Given the description of an element on the screen output the (x, y) to click on. 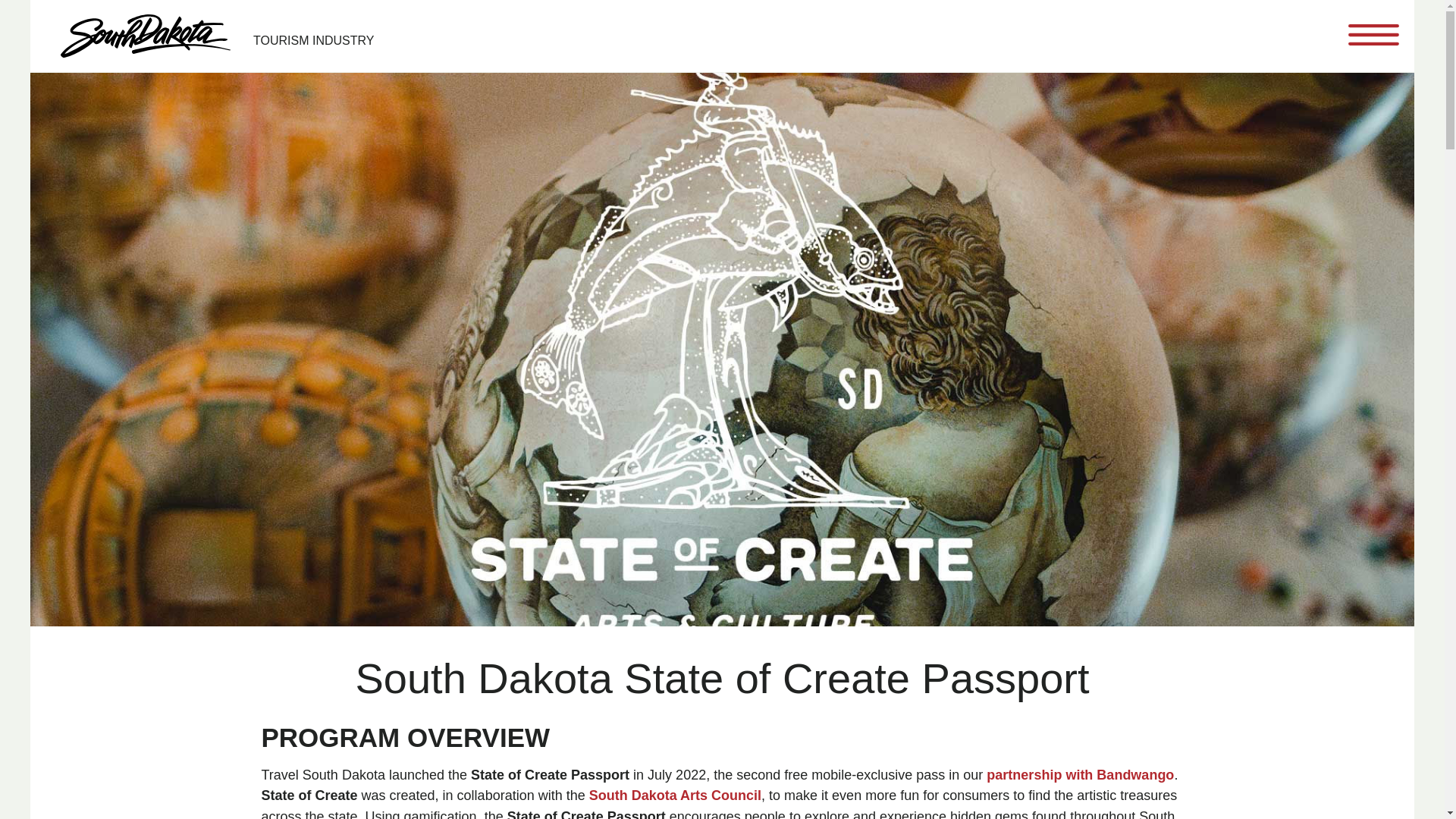
partnership with Bandwango (1080, 774)
South Dakota Arts Council (675, 795)
South Dakota Tourism Industry:Home (224, 35)
MAIN MENU (1373, 34)
TOURISM INDUSTRY (224, 35)
